Given the description of an element on the screen output the (x, y) to click on. 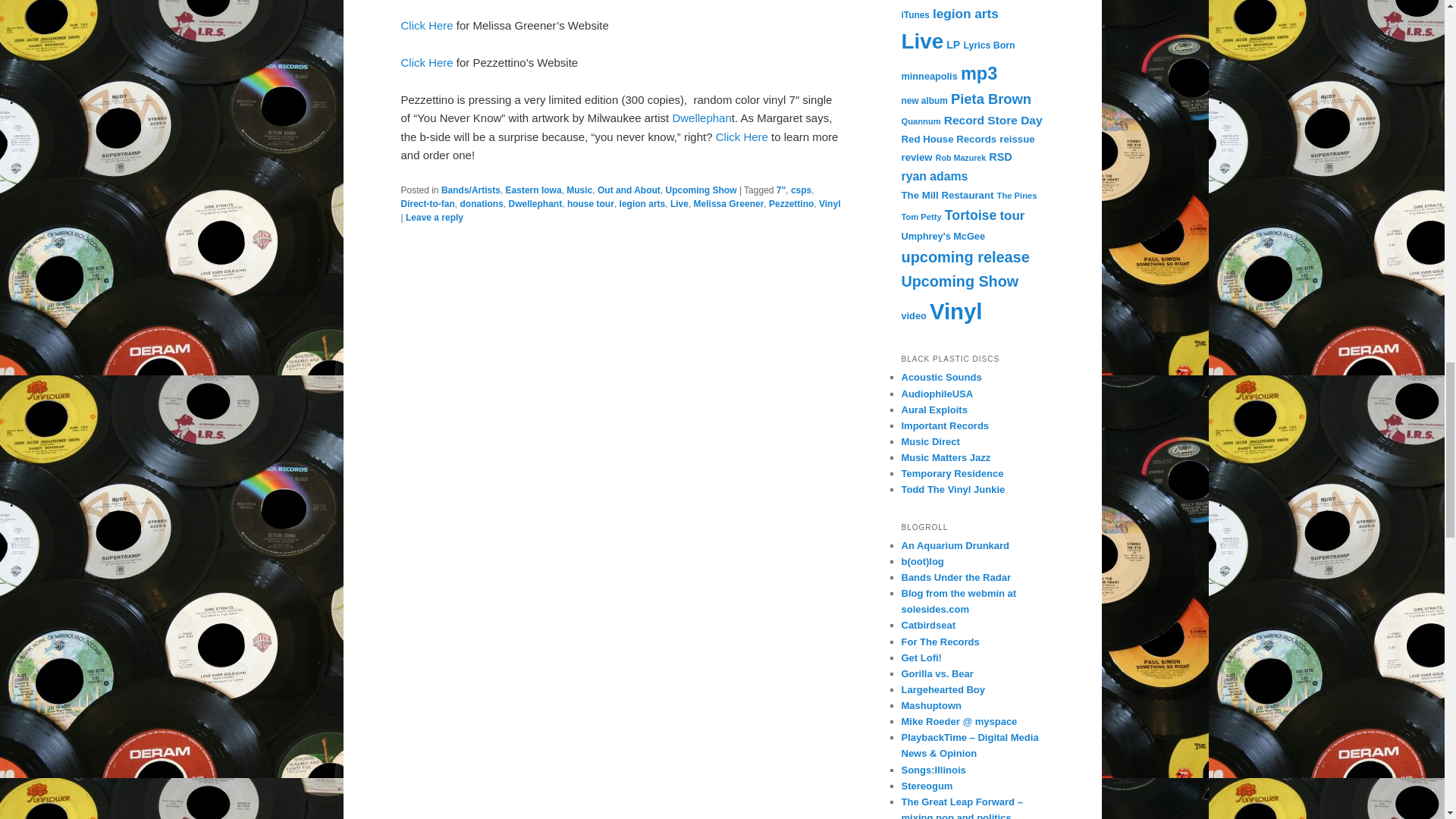
Live (678, 204)
Dwellephan (700, 117)
Dwellephant (535, 204)
Out and About (628, 190)
house tour (590, 204)
Click Here (742, 136)
donations (481, 204)
Music (579, 190)
Melissa Greener (729, 204)
Click Here (426, 62)
Vinyl issue label for bands like Mono, Fridge, Maserati (952, 473)
New, sealed or mint condition records. (936, 393)
A muzik bloggy (936, 673)
Eastern Iowa (533, 190)
